Given the description of an element on the screen output the (x, y) to click on. 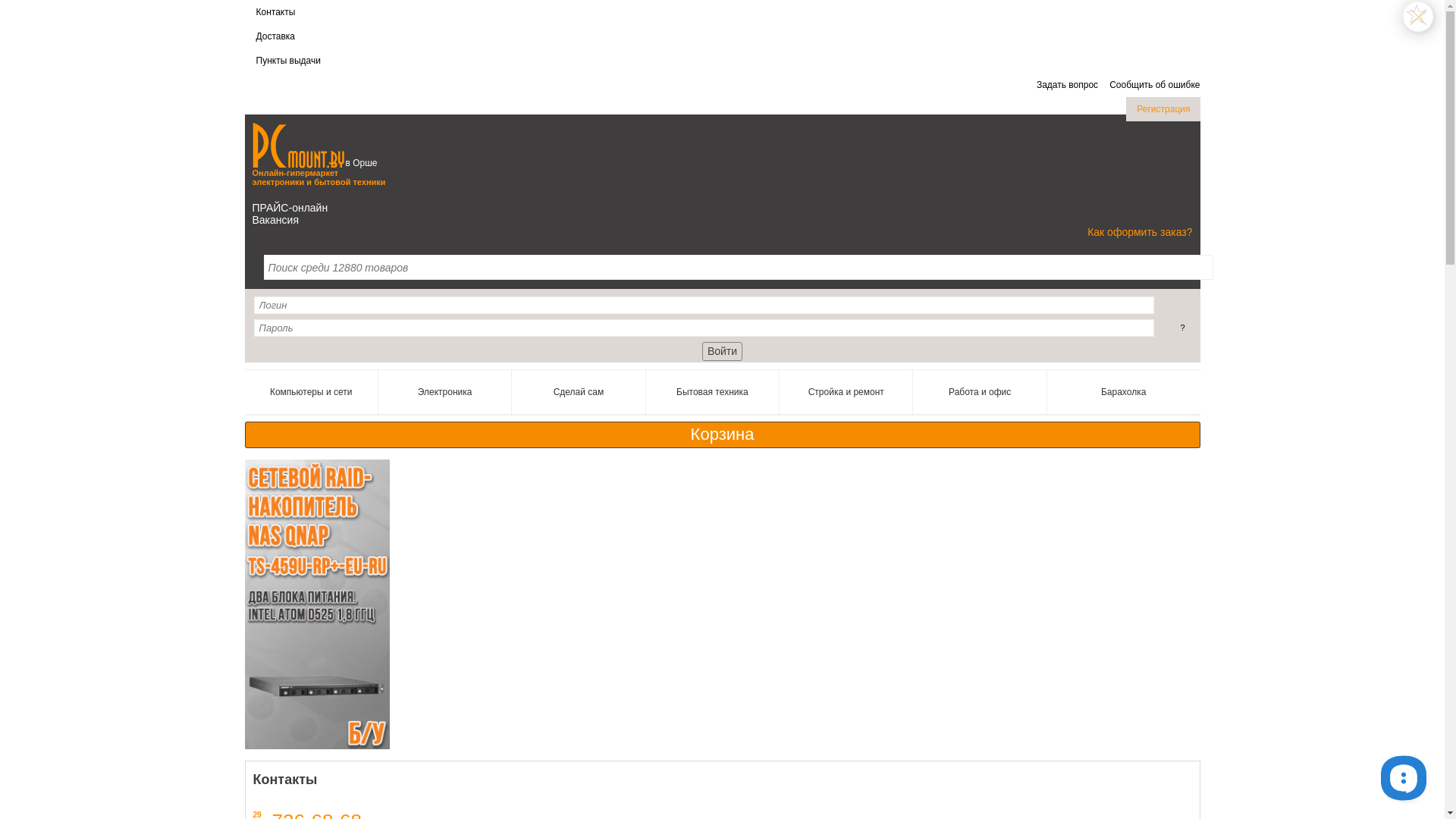
PCmount Element type: hover (297, 145)
? Element type: text (1181, 327)
__replain_widget_iframe Element type: hover (1402, 776)
Network Storage NAS QNAP Element type: hover (316, 604)
